Given the description of an element on the screen output the (x, y) to click on. 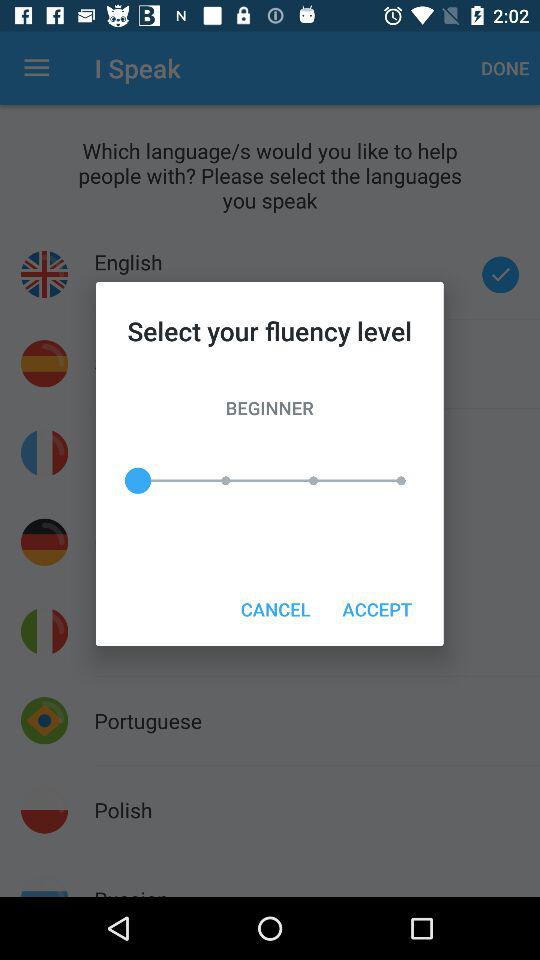
select the accept icon (376, 608)
